Given the description of an element on the screen output the (x, y) to click on. 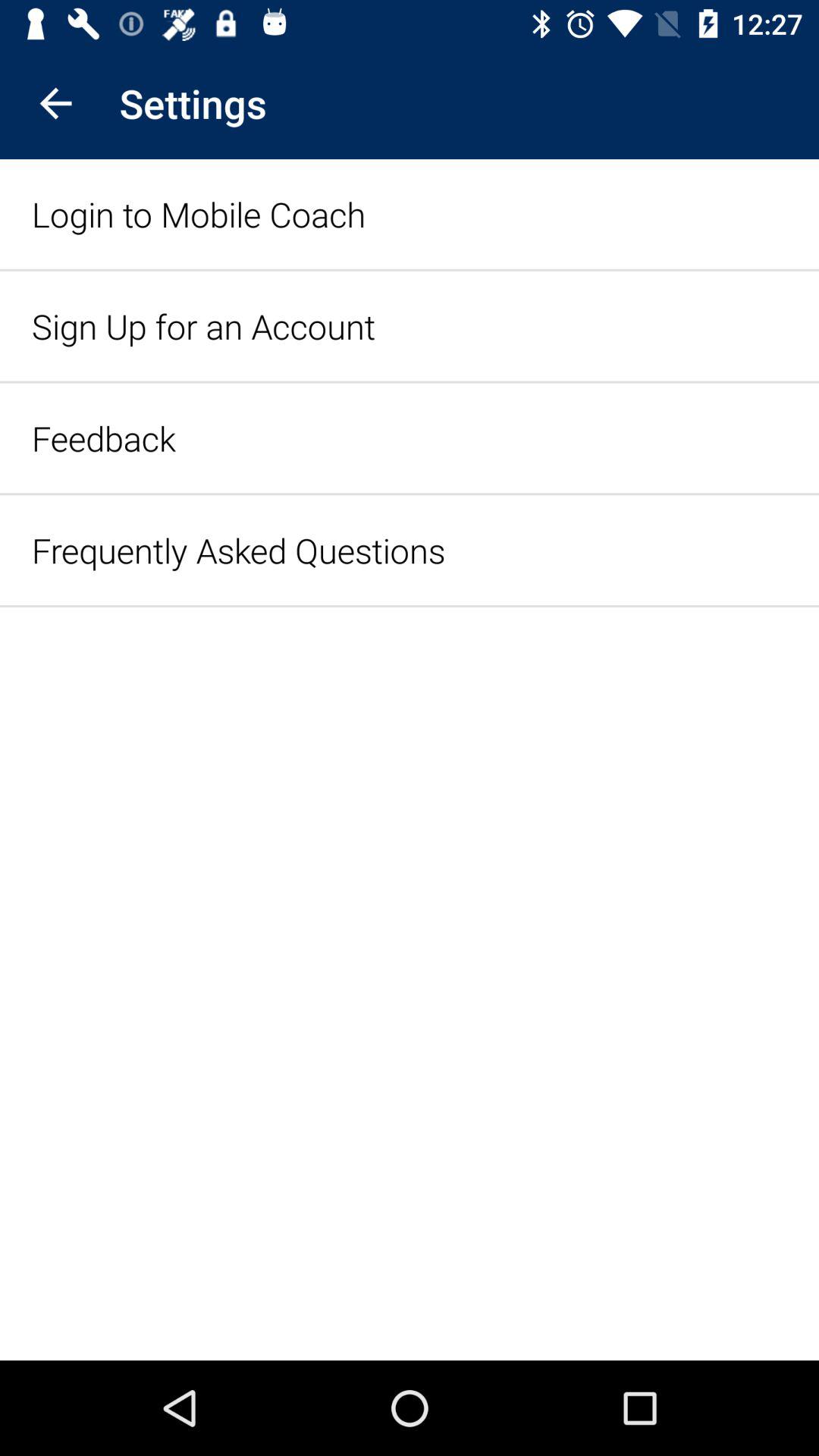
choose item on the left (238, 550)
